Given the description of an element on the screen output the (x, y) to click on. 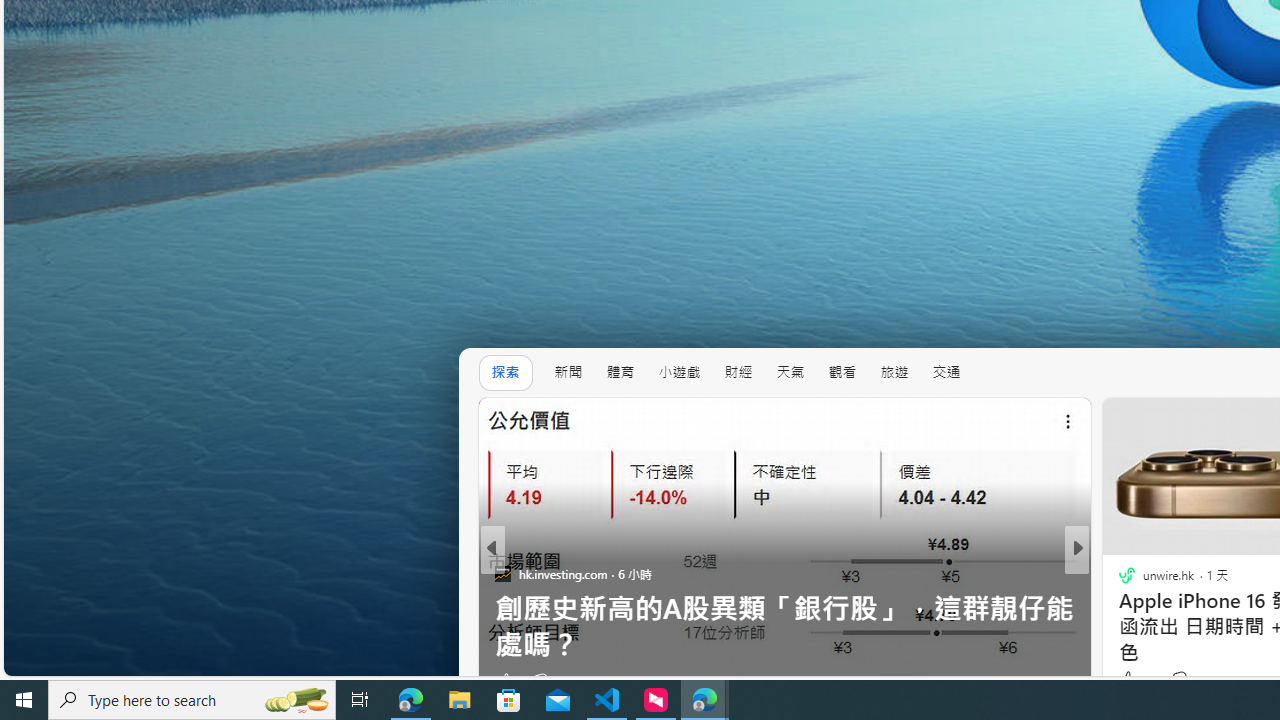
Bloomberg (1117, 573)
AFP (1117, 609)
